Given the description of an element on the screen output the (x, y) to click on. 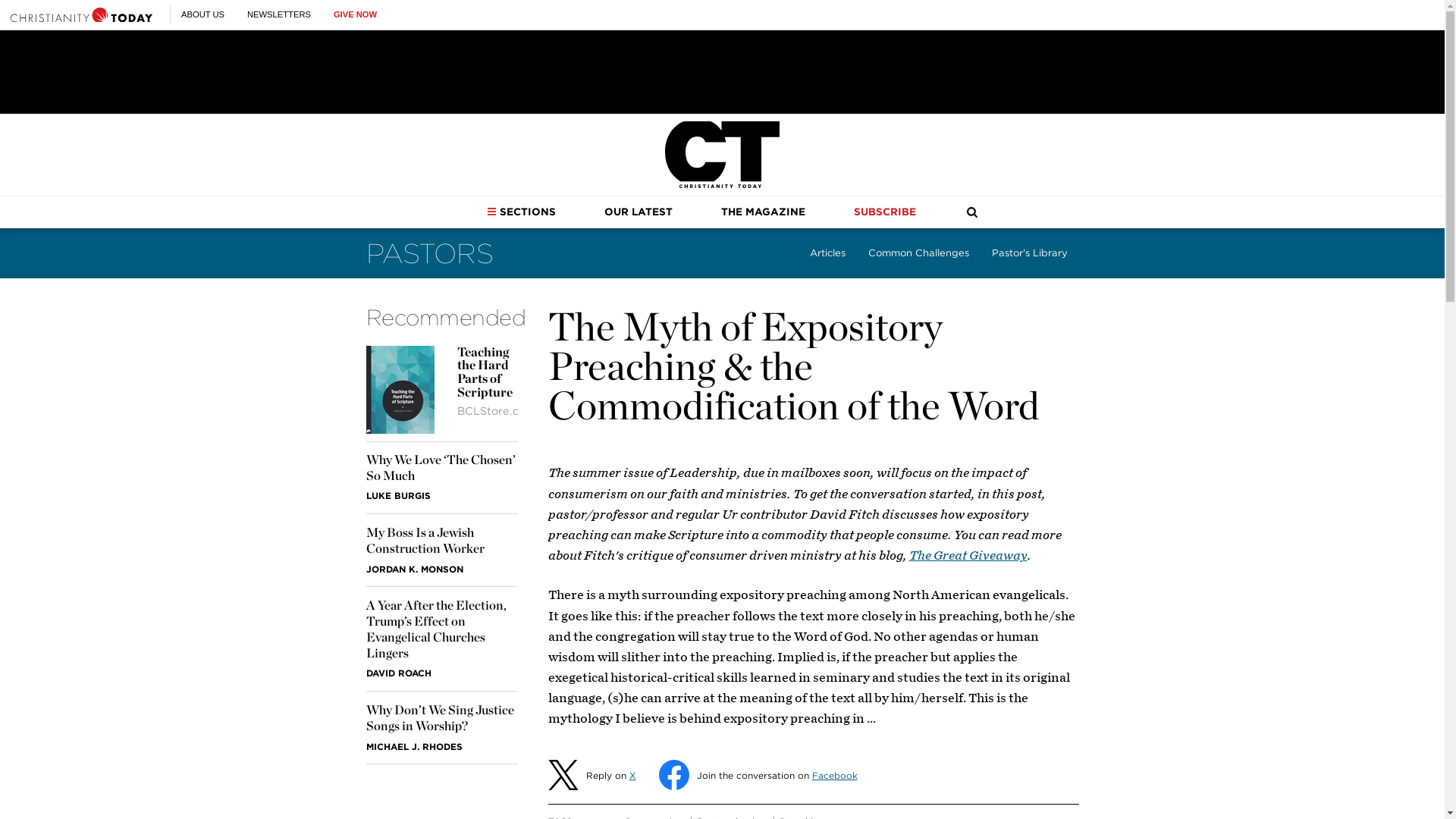
Christianity Today (721, 154)
Christianity Today (81, 14)
GIVE NOW (355, 14)
ABOUT US (202, 14)
3rd party ad content (721, 71)
Sections Dropdown (491, 211)
NEWSLETTERS (278, 14)
SECTIONS (521, 212)
